Given the description of an element on the screen output the (x, y) to click on. 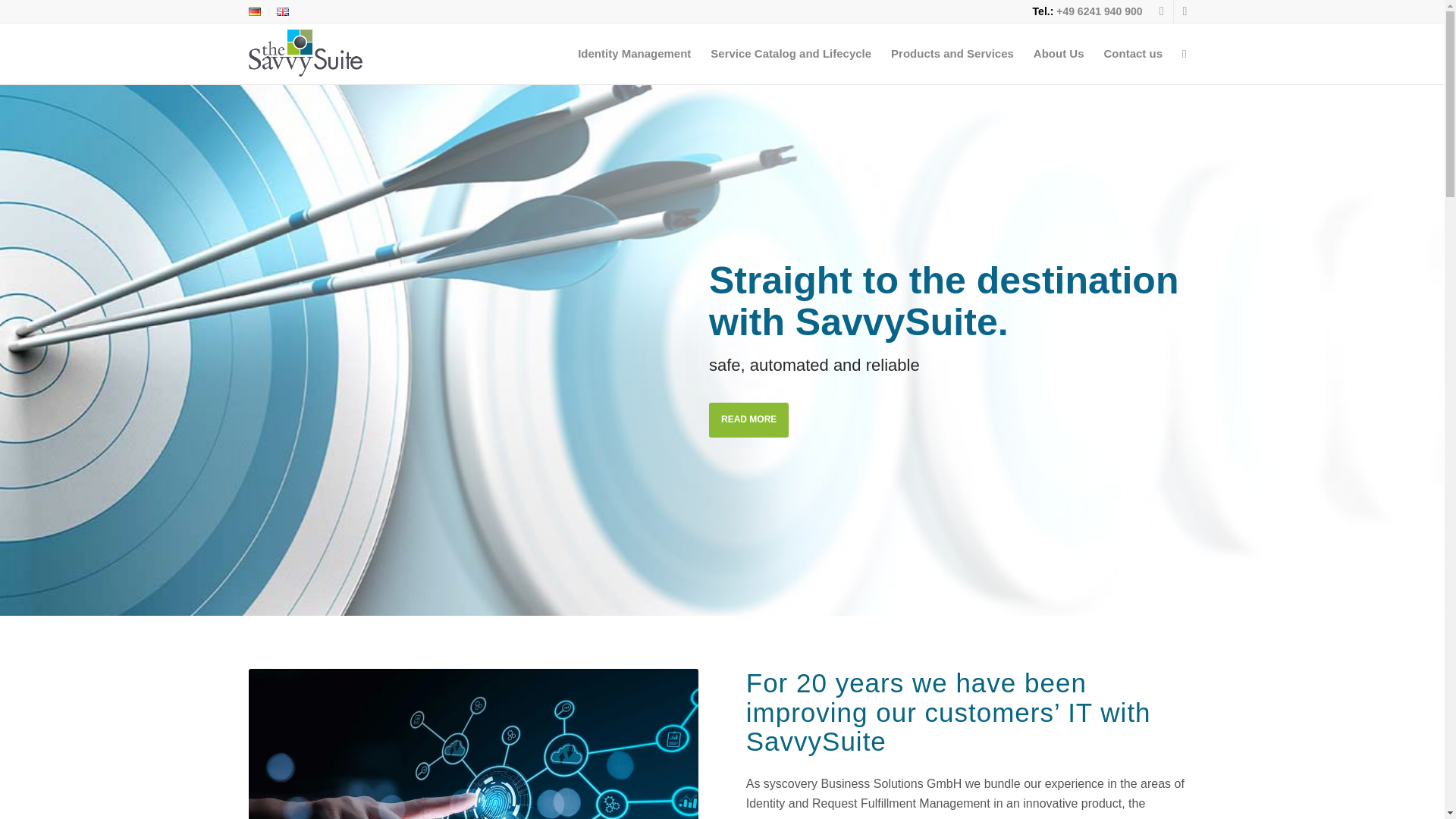
Contact us (1132, 53)
Mail (1162, 11)
About Us (1058, 53)
Identity Management (633, 53)
Products and Services (951, 53)
Service Catalog and Lifecycle (790, 53)
syscovery (473, 744)
READ MORE (749, 419)
LinkedIn (1184, 11)
